Given the description of an element on the screen output the (x, y) to click on. 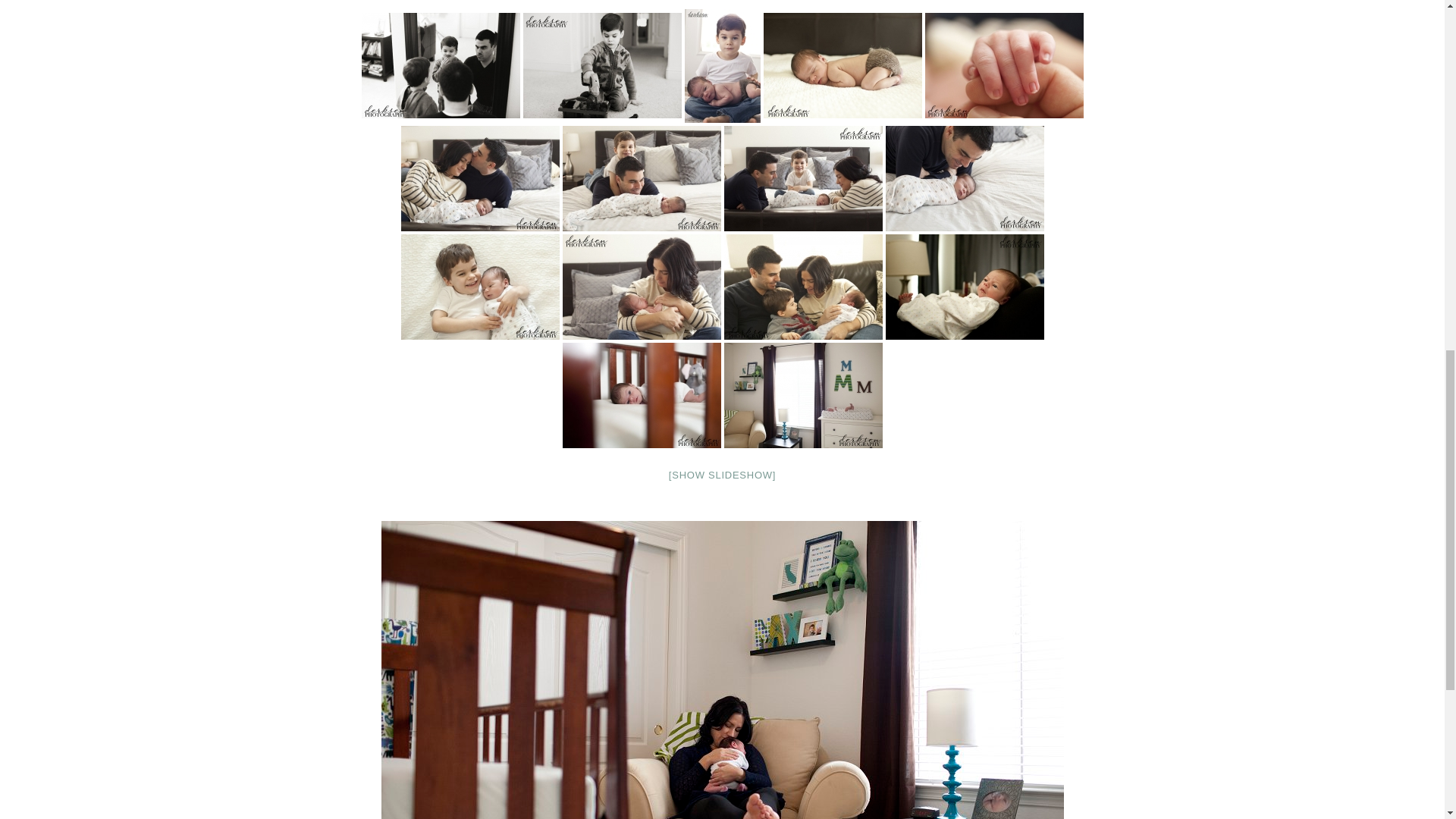
lifestyle-newborn-photography-fresno-2 (601, 65)
lifestyle-newborn-photography-fresno-6 (479, 178)
lifestyle-newborn-photography-fresno-10 (841, 65)
lifestyle-newborn-photography-fresno-1 (440, 65)
lifestyle-newborn-photography-fresno-20 (1003, 65)
